Given the description of an element on the screen output the (x, y) to click on. 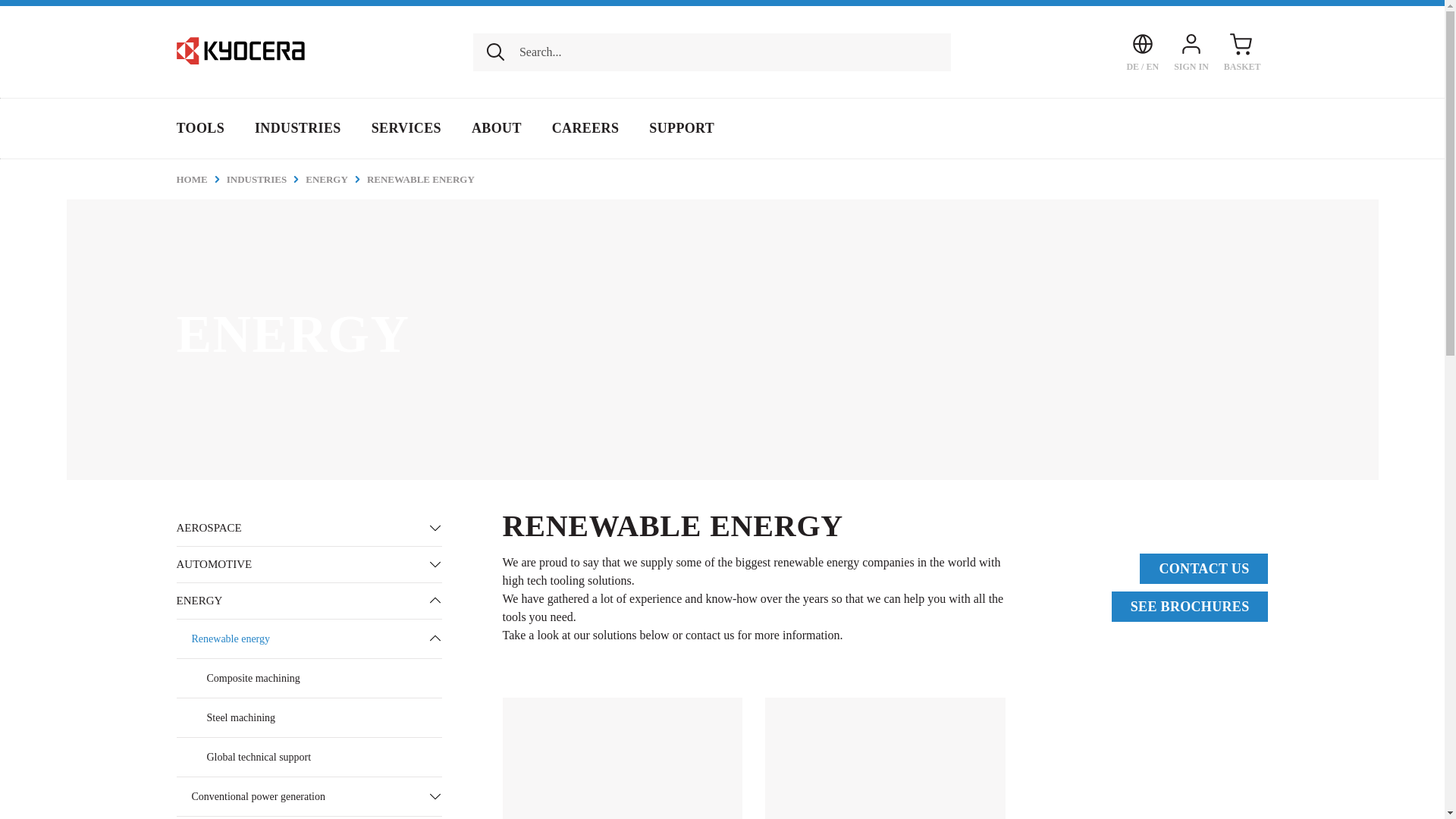
INDUSTRIES (298, 128)
Composite machining (308, 678)
Renewable energy (296, 638)
HOME (200, 179)
ENERGY (296, 601)
Steel machining (308, 717)
SEE BROCHURES (1190, 606)
AUTOMOTIVE (296, 564)
Composite machining (622, 758)
Steel machining (885, 758)
ABOUT (497, 128)
SIGN IN (1190, 52)
Global technical support (308, 756)
ENERGY (335, 179)
